Given the description of an element on the screen output the (x, y) to click on. 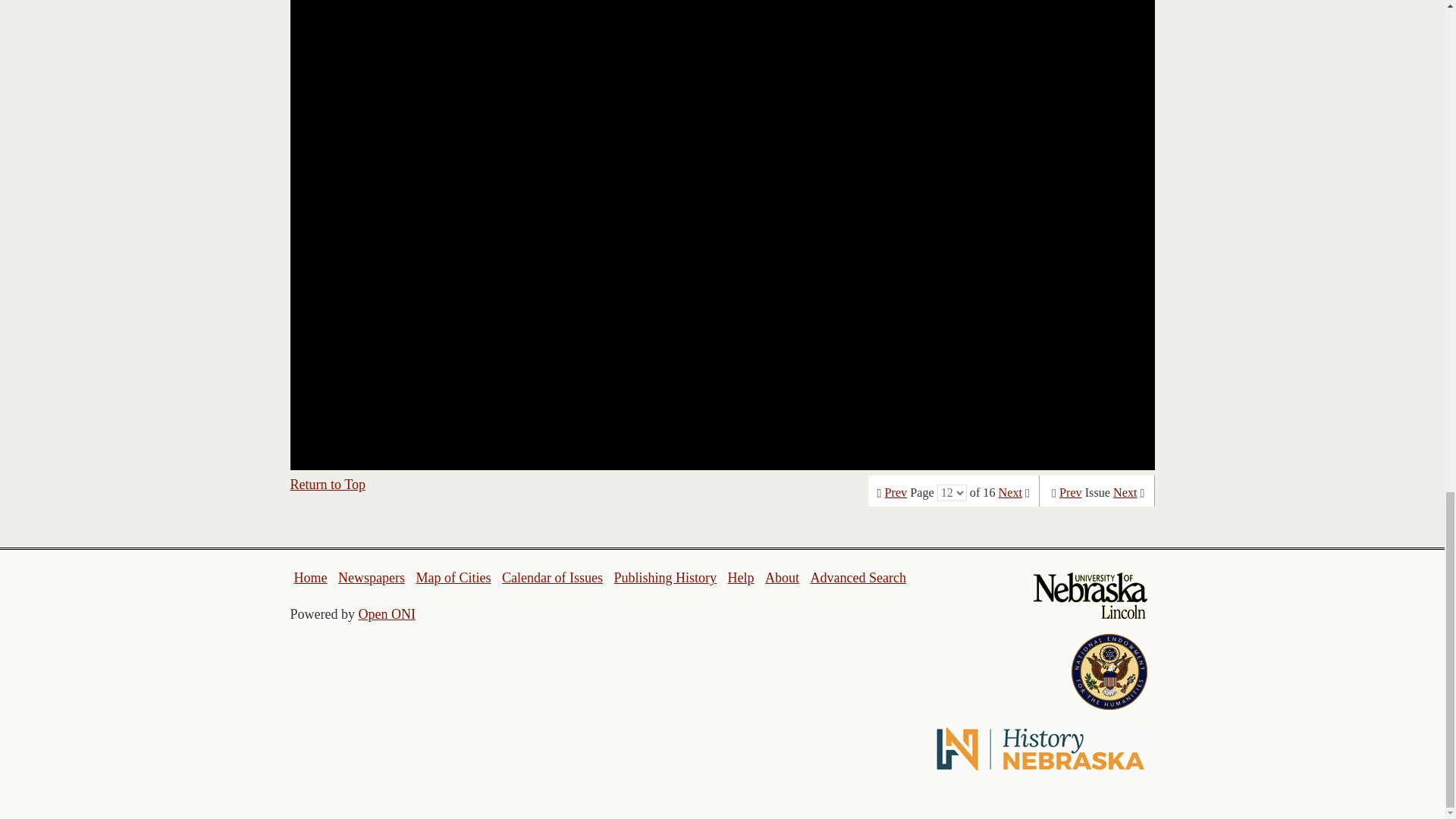
Home (310, 577)
Open ONI (386, 613)
Newspapers (370, 577)
Publishing History (664, 577)
Next (1125, 492)
Help (740, 577)
Return to Top (327, 484)
Advanced Search (857, 577)
Next (1010, 492)
Map of Cities (452, 577)
Prev (896, 492)
About (782, 577)
Prev (1070, 492)
Calendar of Issues (552, 577)
